Given the description of an element on the screen output the (x, y) to click on. 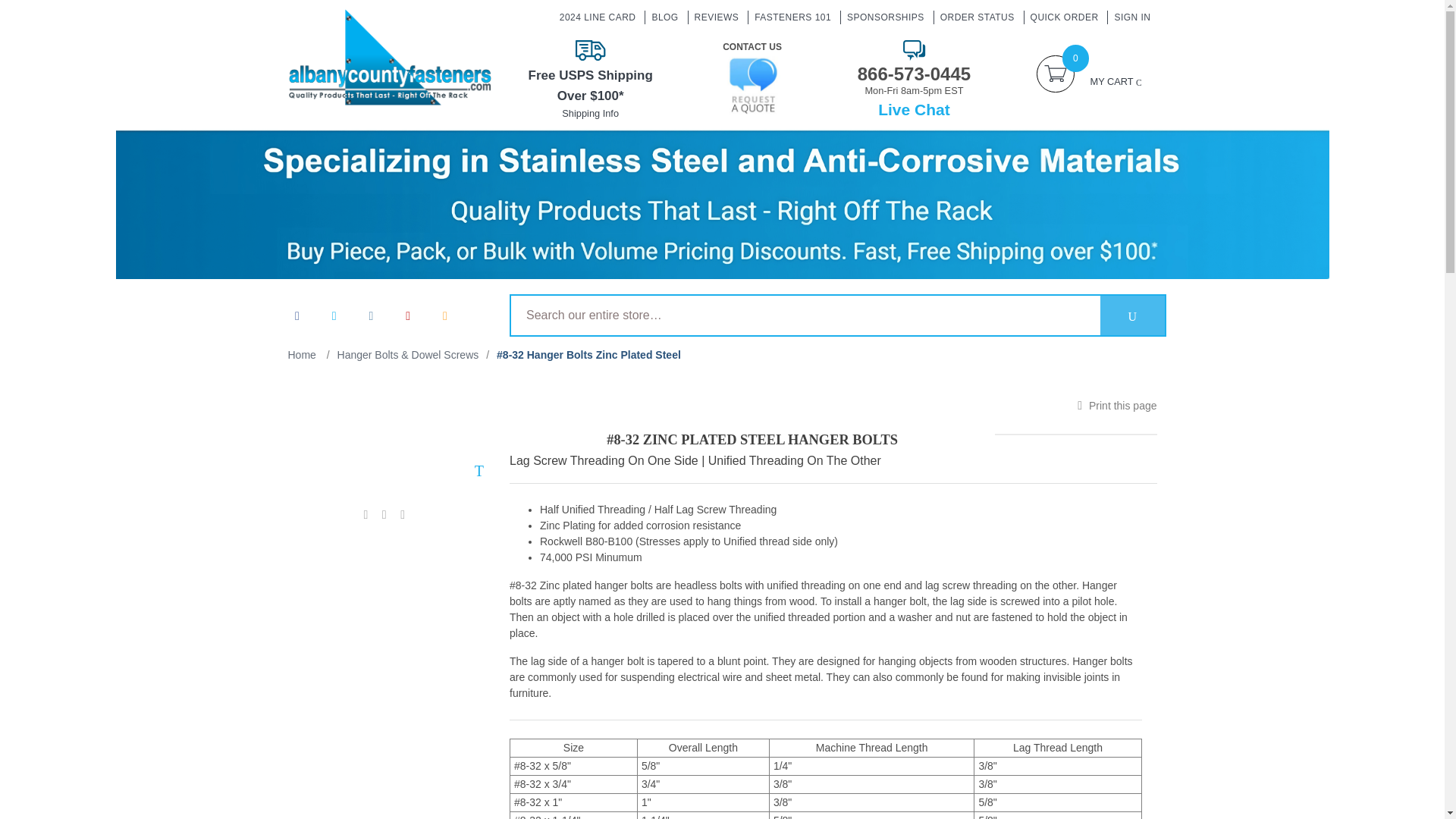
cart (1055, 73)
Search (1133, 315)
Share on Twitter (384, 513)
Instagram (370, 315)
Blog (444, 315)
Share on Facebook (366, 513)
Facebook (296, 315)
Albany County Fasteners (389, 57)
Twitter (333, 315)
Email to Friend (402, 513)
YouTube (408, 315)
